Given the description of an element on the screen output the (x, y) to click on. 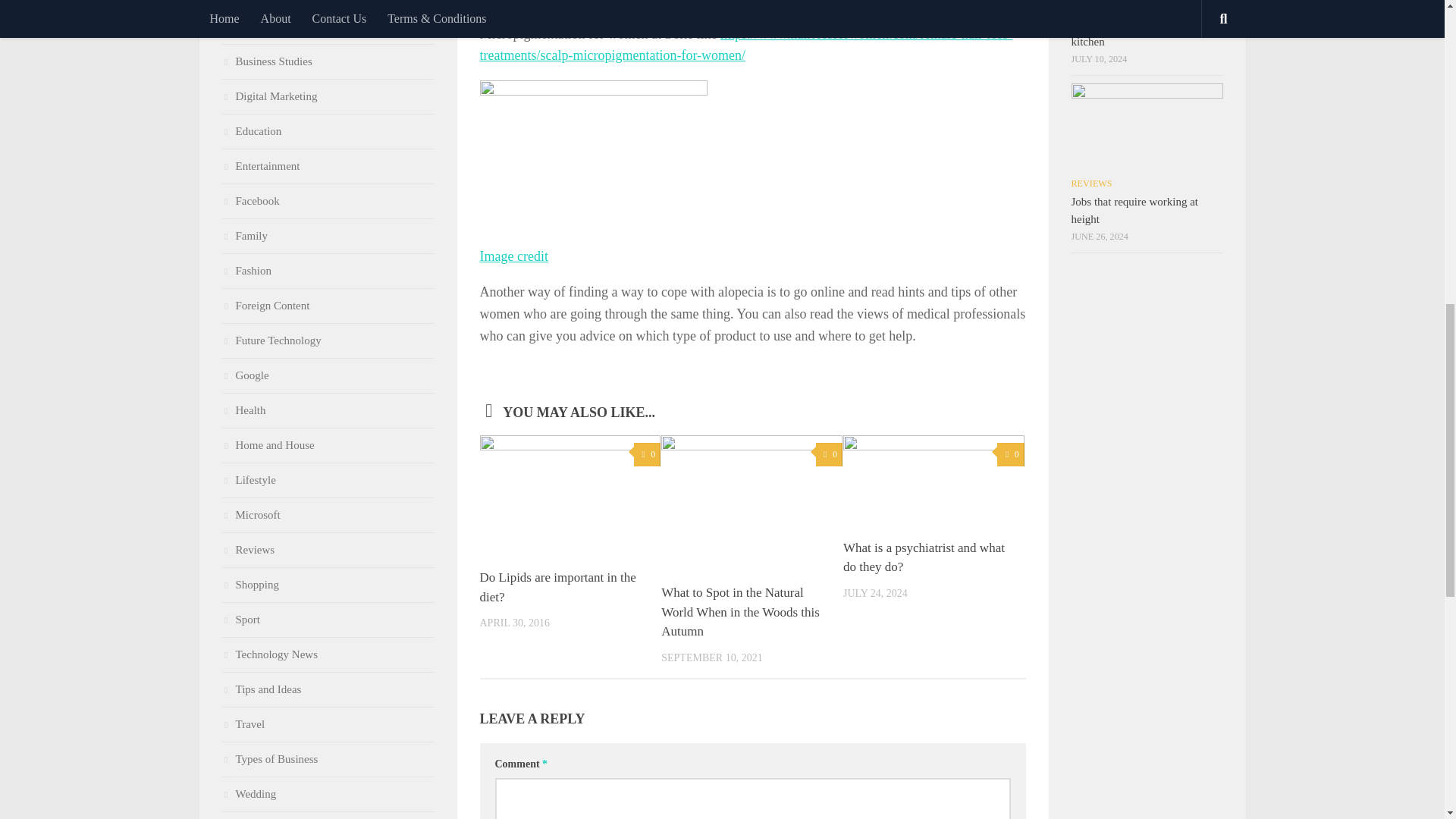
Do Lipids are important in the diet? (556, 587)
0 (647, 454)
0 (829, 454)
0 (1010, 454)
Image credit (513, 255)
What is a psychiatrist and what do they do? (923, 557)
